Given the description of an element on the screen output the (x, y) to click on. 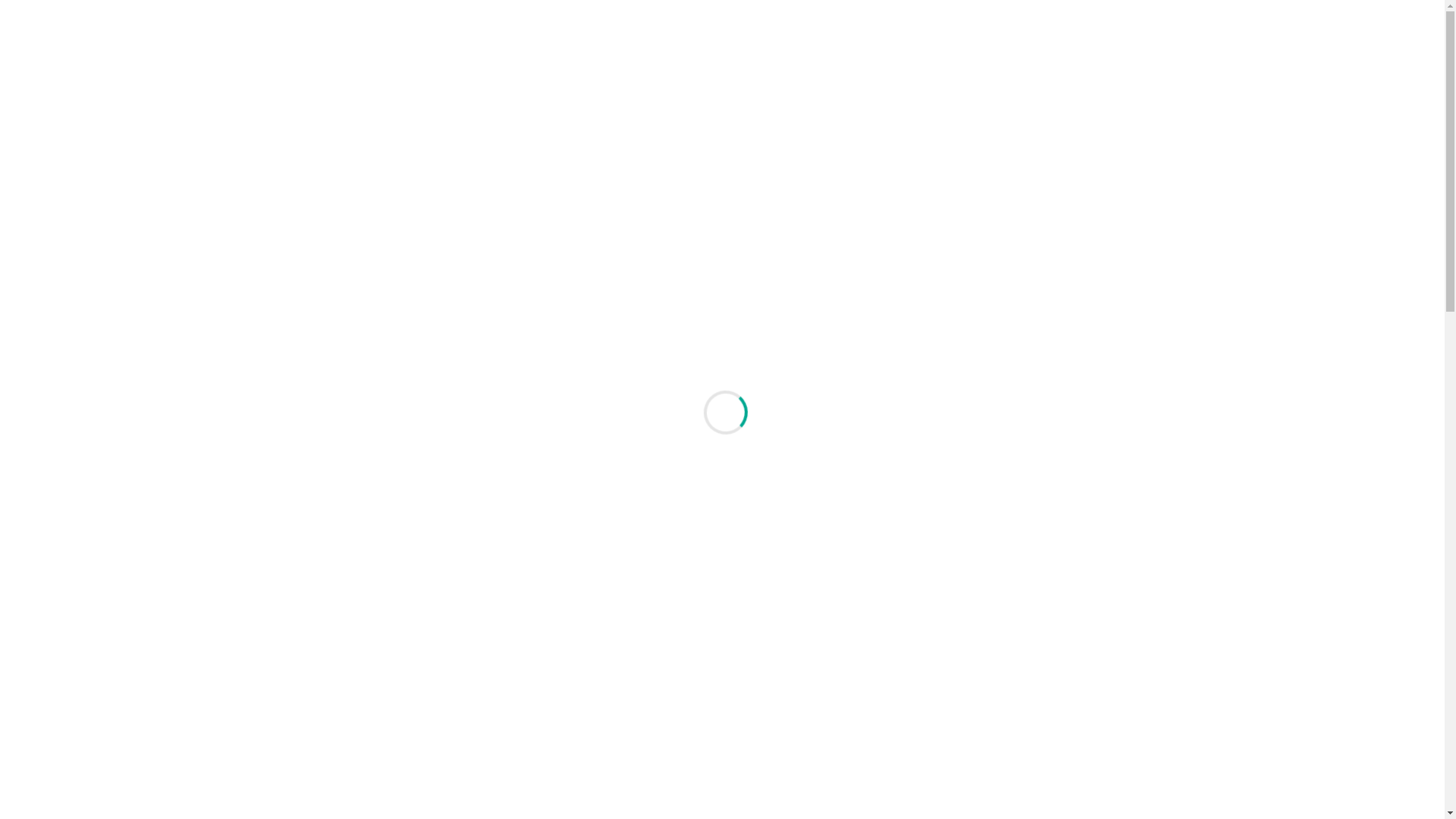
(02) 4926 2066 Element type: text (317, 12)
Orthodontics Element type: text (1052, 646)
Facebook Element type: text (1129, 11)
BOOK NOW Element type: text (1116, 67)
Advanced Services Element type: text (1052, 765)
Cosmetic Dentistry Element type: text (1052, 527)
ABOUT Element type: text (804, 67)
HOME Element type: text (740, 67)
Oral Surgery Element type: text (1052, 725)
NEWS Element type: text (945, 67)
SERVICES Element type: text (876, 67)
Instagram Element type: text (1148, 11)
Preventive Dentistry Element type: text (1052, 567)
CONTACT Element type: text (1013, 67)
Implant Dentistry Element type: text (1052, 686)
General Dentistry Element type: text (1052, 488)
Email Element type: text (1166, 11)
